Given the description of an element on the screen output the (x, y) to click on. 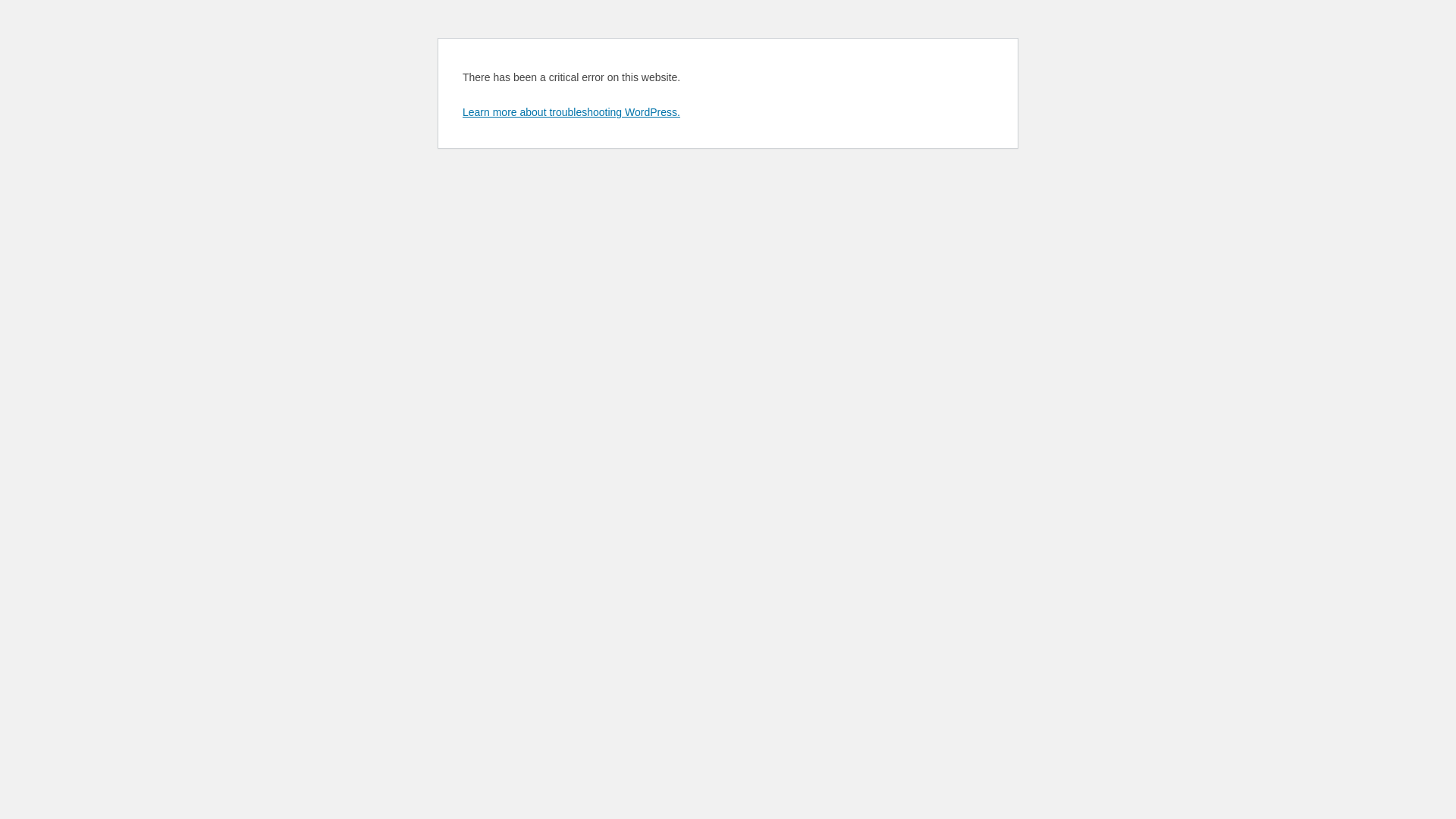
Learn more about troubleshooting WordPress. Element type: text (571, 112)
